Given the description of an element on the screen output the (x, y) to click on. 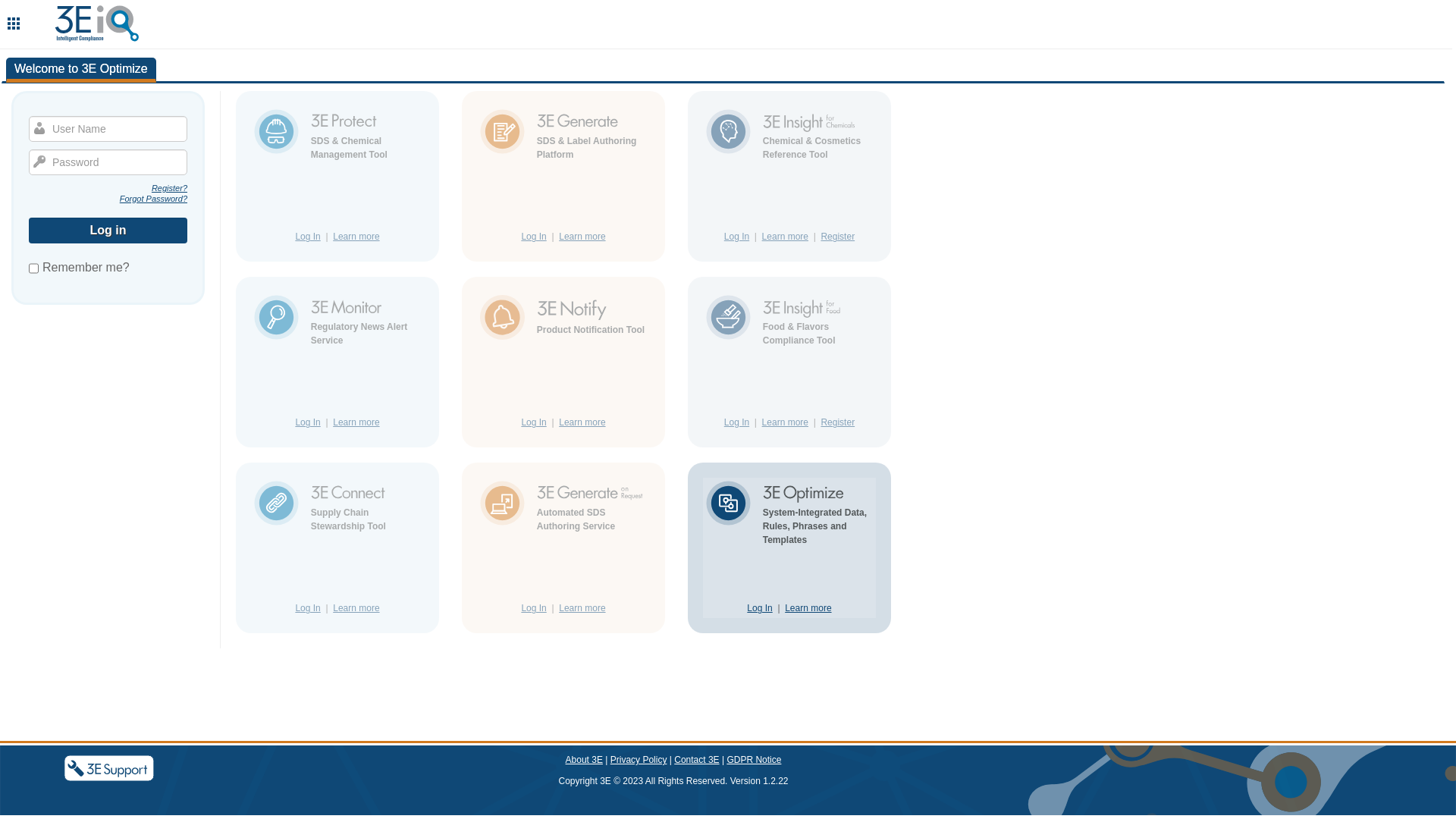
Learn more Element type: text (581, 236)
About 3E Element type: text (583, 759)
Contact 3E Element type: text (696, 759)
Log In Element type: text (307, 236)
Log In Element type: text (533, 607)
Log In Element type: text (736, 236)
Learn more Element type: text (355, 607)
Forgot Password? Element type: text (107, 198)
Log In Element type: text (533, 236)
Log In Element type: text (736, 422)
Log In Element type: text (307, 422)
Learn more Element type: text (807, 607)
Log in Element type: text (107, 230)
Learn more Element type: text (785, 236)
Register? Element type: text (107, 187)
Register Element type: text (837, 236)
Learn more Element type: text (355, 422)
For Free 3E Support Element type: hover (108, 768)
Learn more Element type: text (581, 607)
Privacy Policy Element type: text (638, 759)
Log In Element type: text (758, 607)
Learn more Element type: text (355, 236)
GDPR Notice Element type: text (753, 759)
Register Element type: text (837, 422)
Log In Element type: text (533, 422)
Learn more Element type: text (581, 422)
Learn more Element type: text (785, 422)
Log In Element type: text (307, 607)
Welcome to 3E Optimize Element type: text (81, 69)
